Given the description of an element on the screen output the (x, y) to click on. 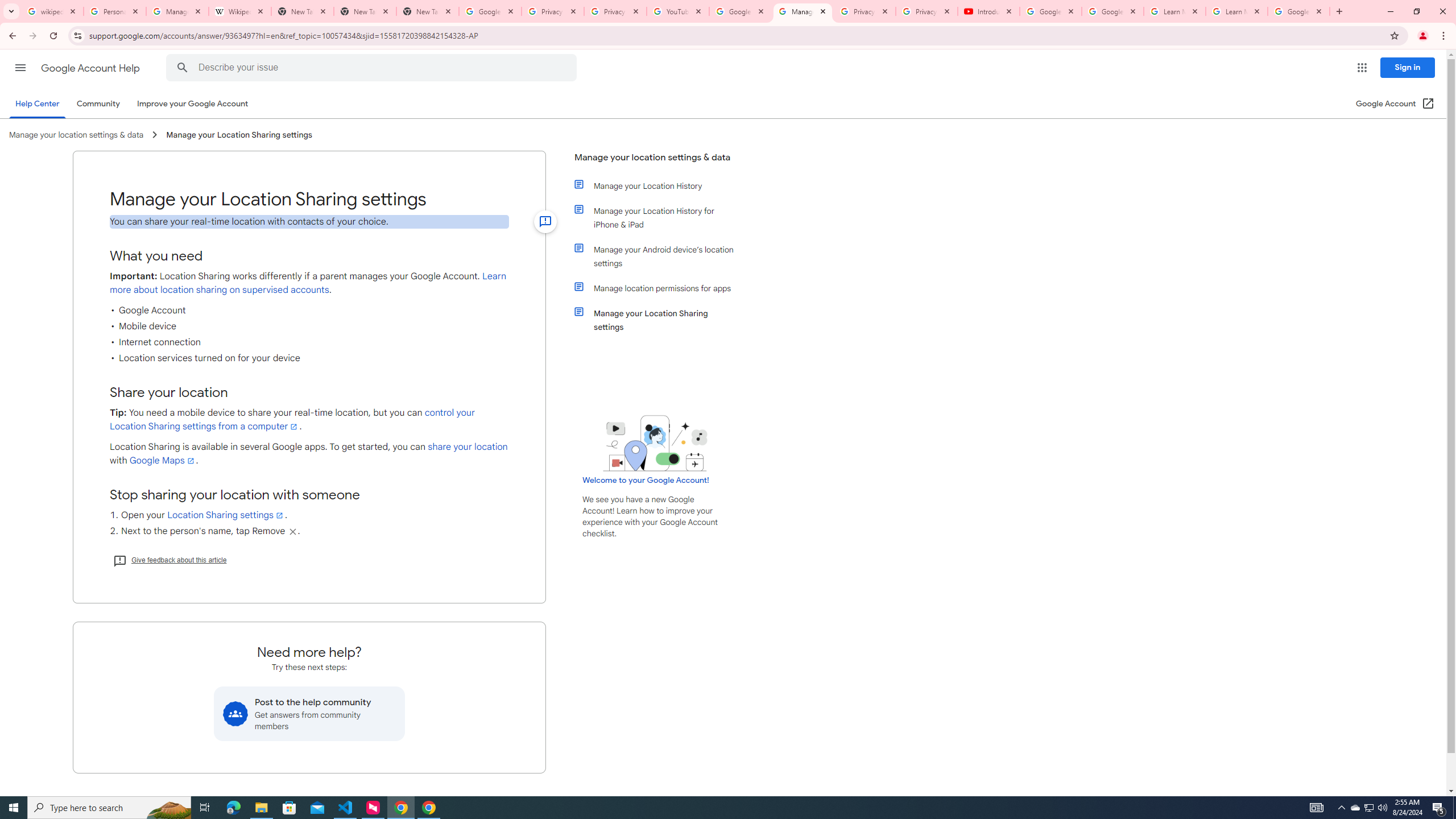
Personalization & Google Search results - Google Search Help (114, 11)
Learning Center home page image (655, 442)
New Tab (365, 11)
Manage your Location History - Google Search Help (177, 11)
Describe your issue (373, 67)
Search Help Center (181, 67)
YouTube (678, 11)
Help Center (36, 103)
Wikipedia:Edit requests - Wikipedia (239, 11)
